Given the description of an element on the screen output the (x, y) to click on. 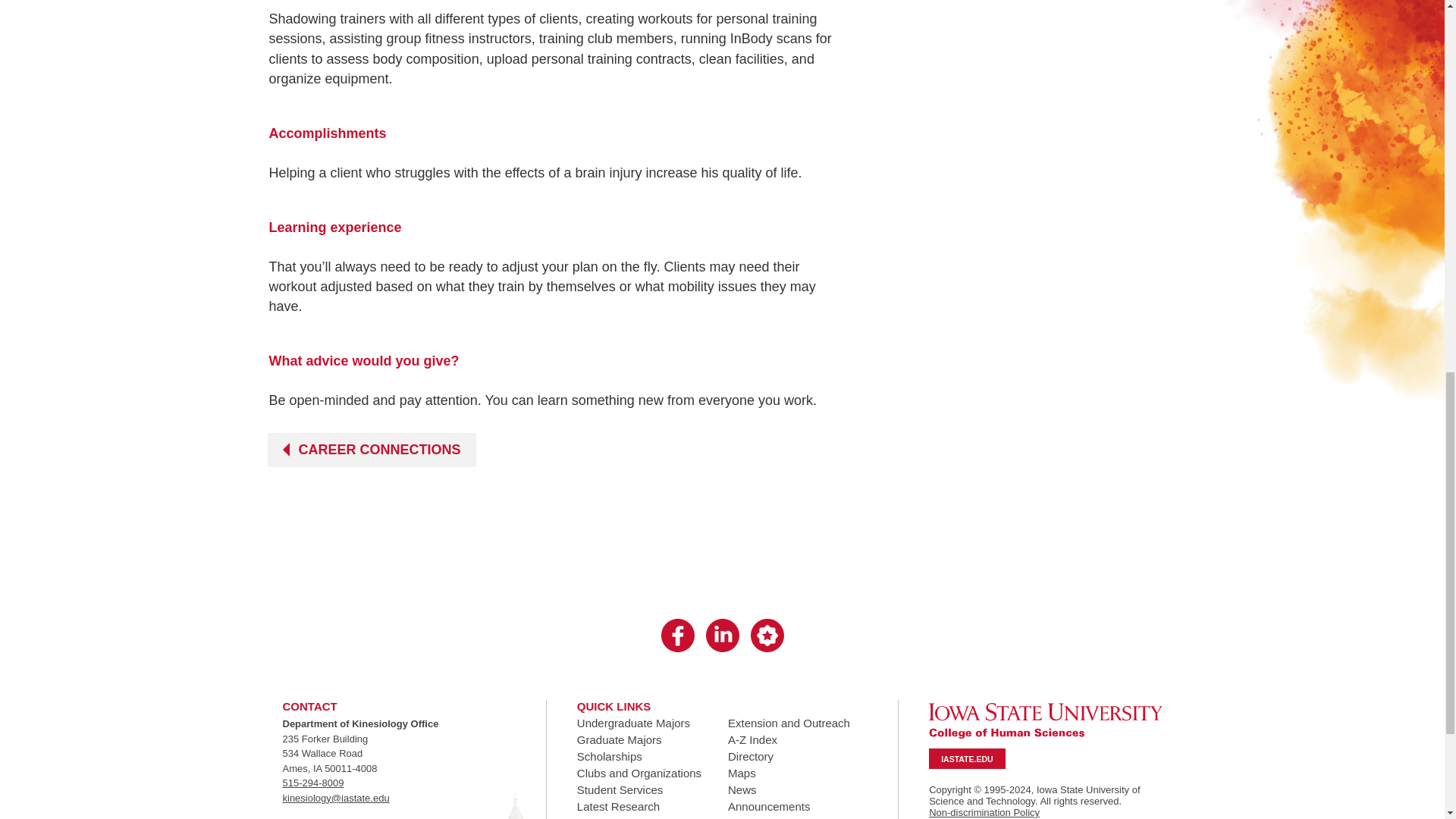
Click to visit www.iastate.edu (966, 758)
Iowa State University (1044, 719)
Visit Department of Kinesiology on Facebook (677, 636)
Click to go to www.iastate.edu (1044, 720)
Visit Department of Kinesiology on Merit Pages (767, 636)
Visit Department of Kinesiology on LinkedIn (721, 636)
